Given the description of an element on the screen output the (x, y) to click on. 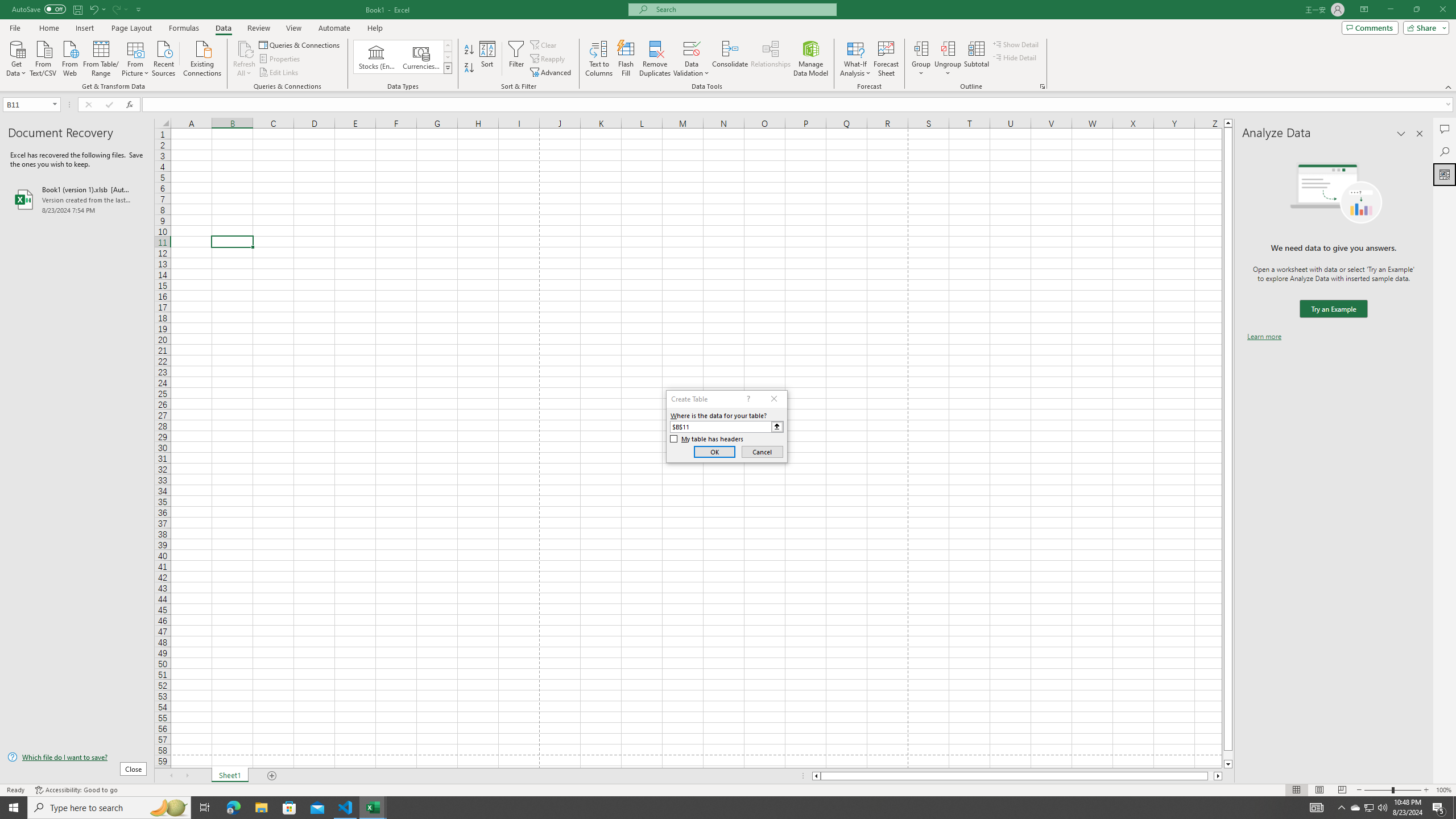
Remove Duplicates (654, 58)
Sort Z to A (469, 67)
Group... (921, 48)
Reapply (548, 58)
Automate (334, 28)
Subtotal (976, 58)
Consolidate... (729, 58)
Learn more (1264, 336)
Group and Outline Settings (1042, 85)
Book1 (version 1).xlsb  [AutoRecovered] (77, 199)
